Given the description of an element on the screen output the (x, y) to click on. 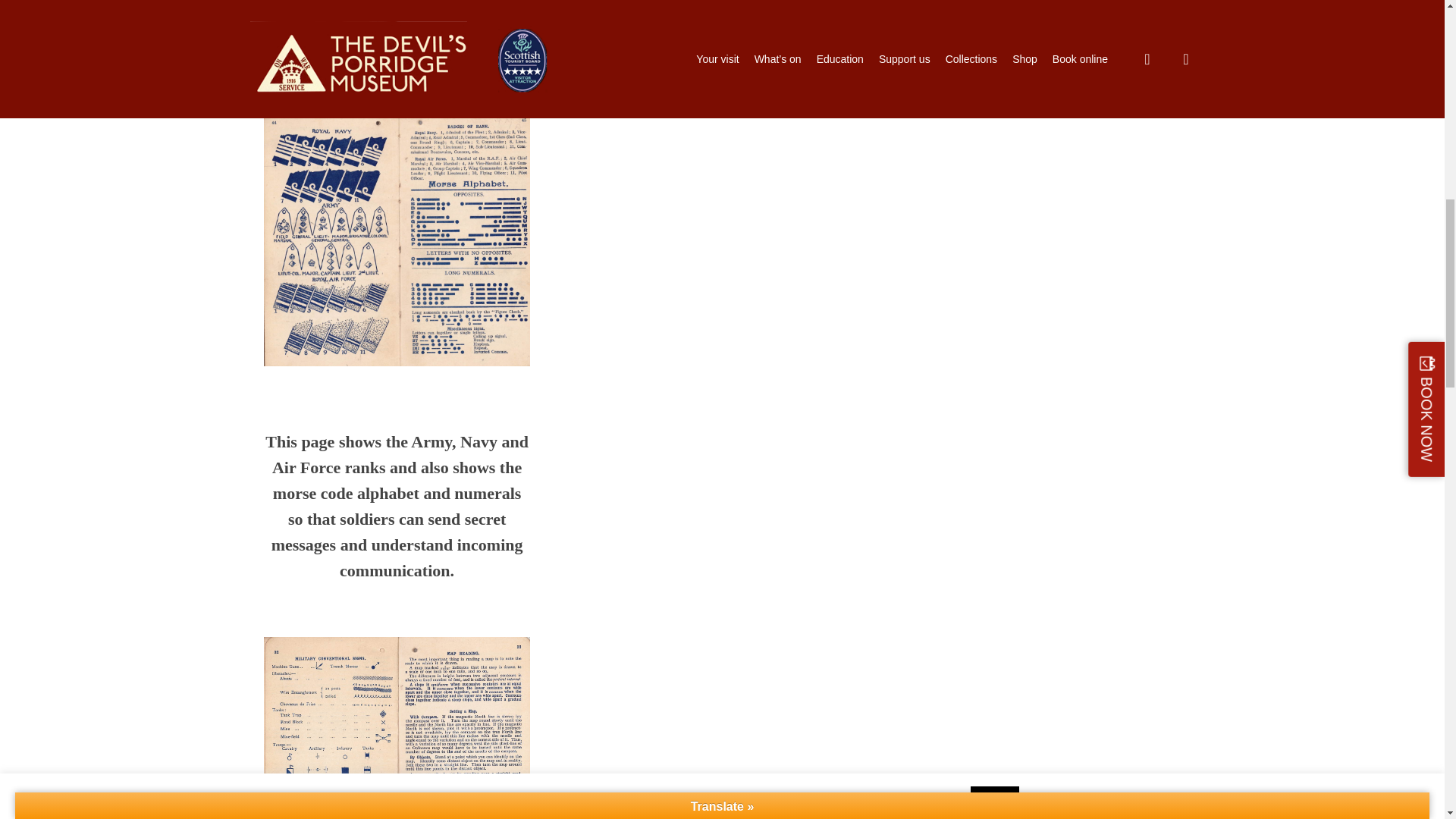
FareHarbor (1342, 64)
